Given the description of an element on the screen output the (x, y) to click on. 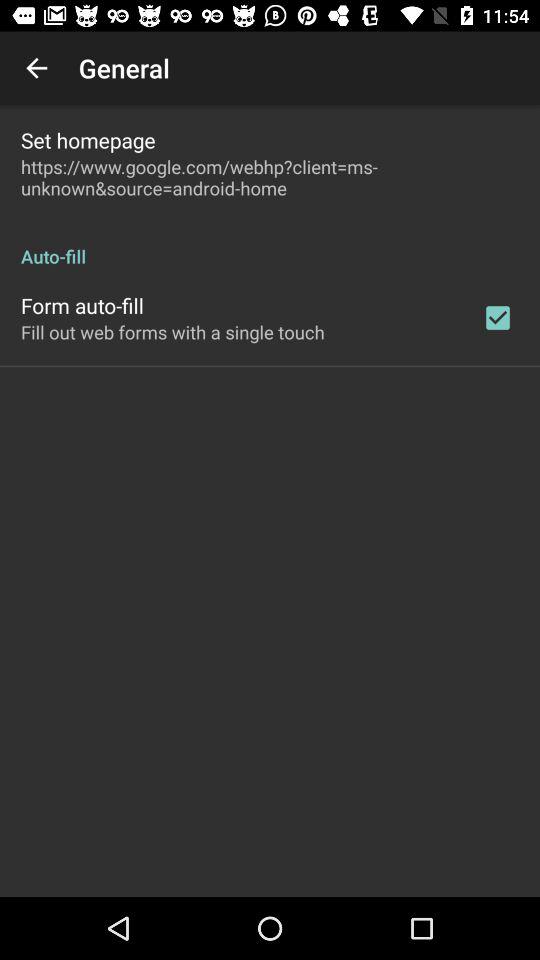
choose set homepage icon (88, 139)
